Given the description of an element on the screen output the (x, y) to click on. 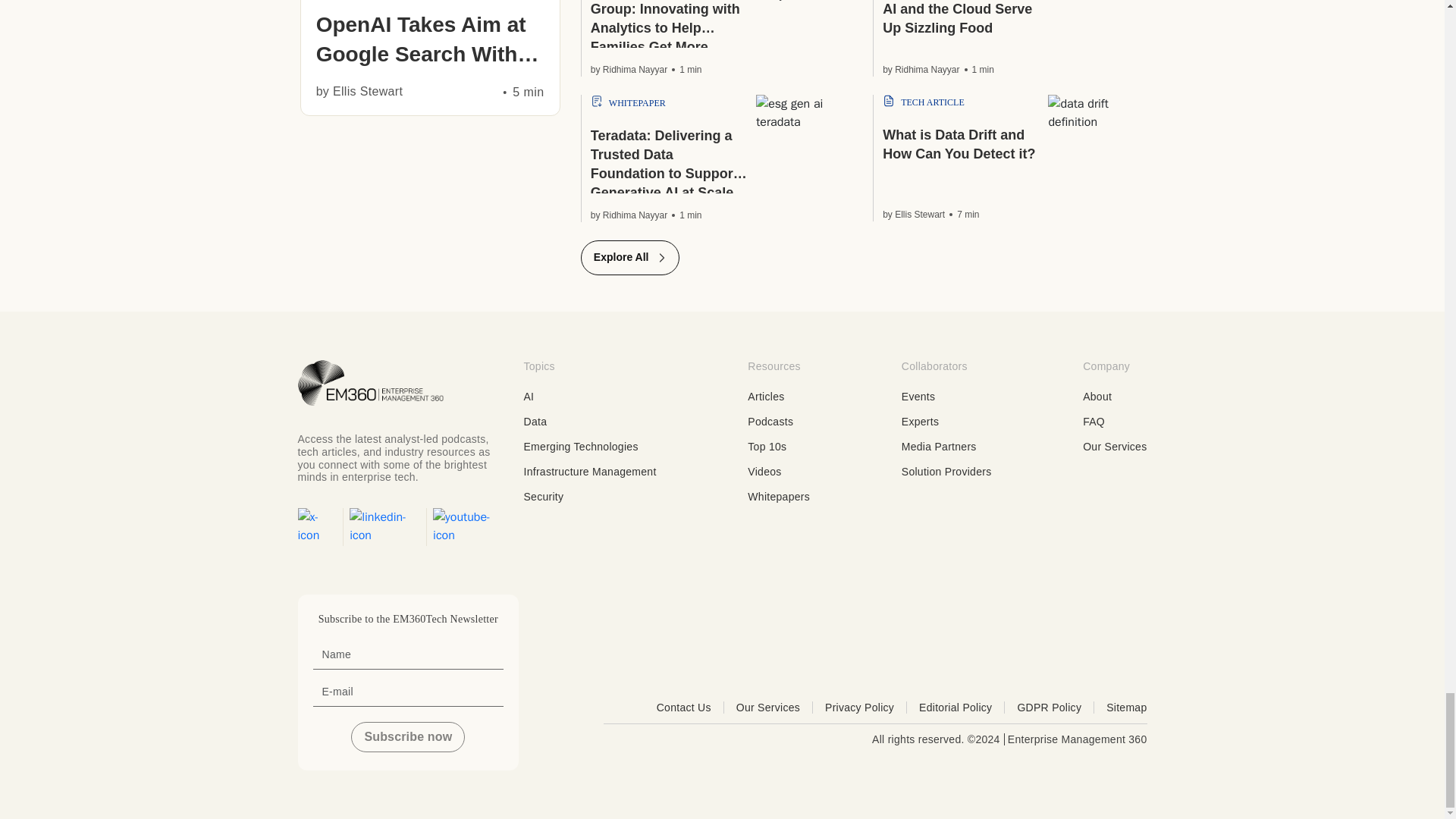
GDPR Policy (1055, 707)
Subscribe now (407, 736)
Sitemap (1126, 707)
Privacy Policy (866, 707)
